Given the description of an element on the screen output the (x, y) to click on. 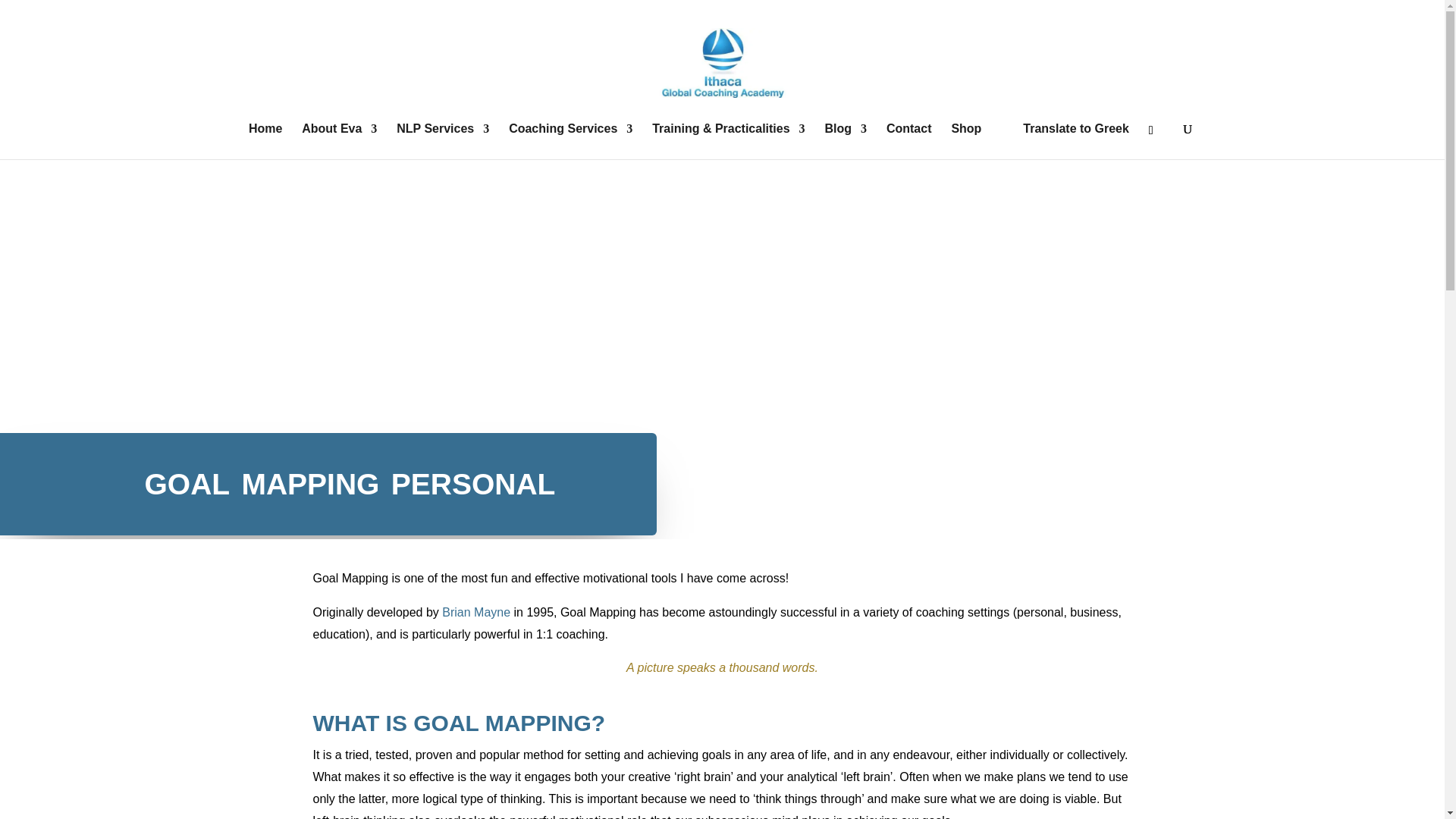
Greek (1065, 139)
About Eva (339, 139)
NLP Services (442, 139)
Blog (846, 139)
Translate to Greek (1065, 139)
Shop (965, 139)
Home (265, 139)
Coaching Services (569, 139)
Brian Mayne (476, 612)
Contact (908, 139)
